Given the description of an element on the screen output the (x, y) to click on. 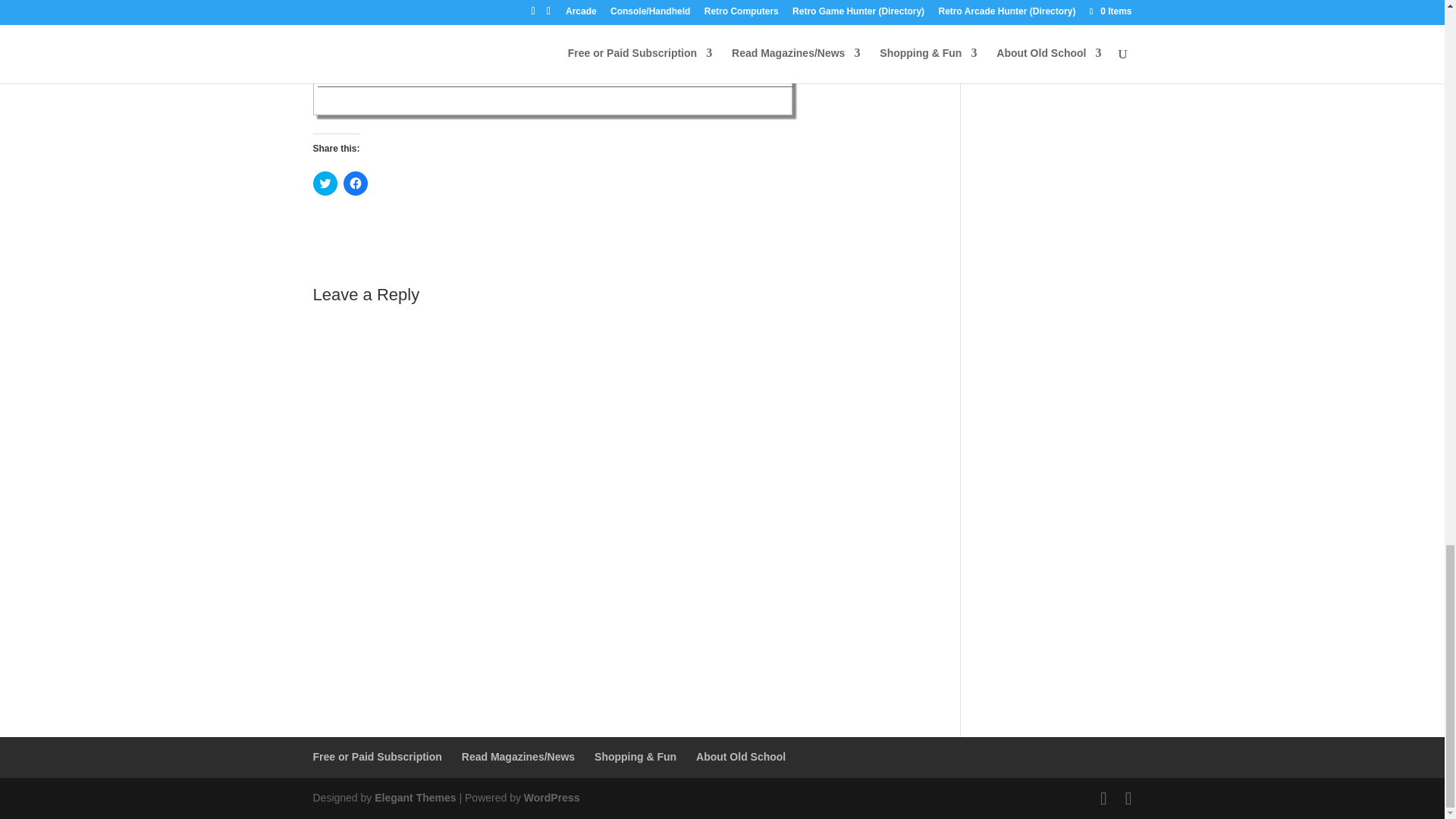
Click to share on Facebook (354, 183)
Premium WordPress Themes (414, 797)
Click to share on Twitter (324, 183)
